Given the description of an element on the screen output the (x, y) to click on. 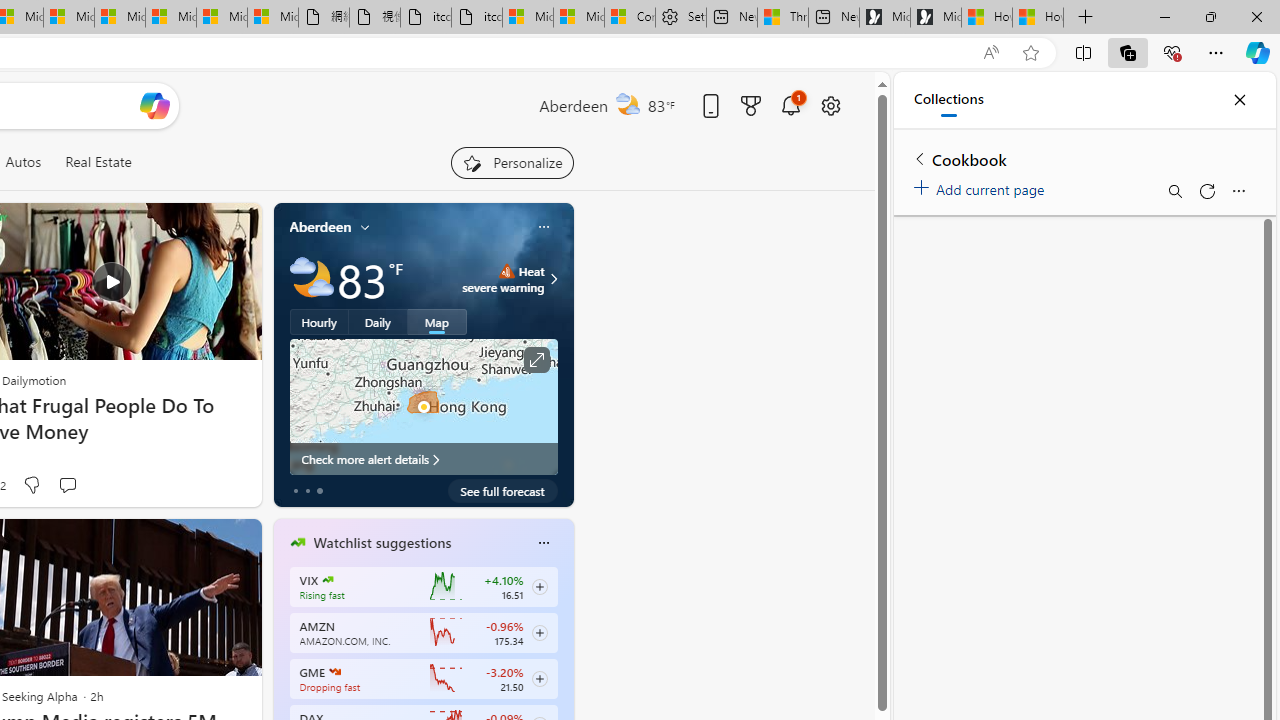
Consumer Health Data Privacy Policy (630, 17)
Personalize your feed" (511, 162)
Back to list of collections (920, 158)
CBOE Market Volatility Index (328, 579)
Partly cloudy (311, 278)
tab-1 (306, 490)
Add current page (982, 186)
